Given the description of an element on the screen output the (x, y) to click on. 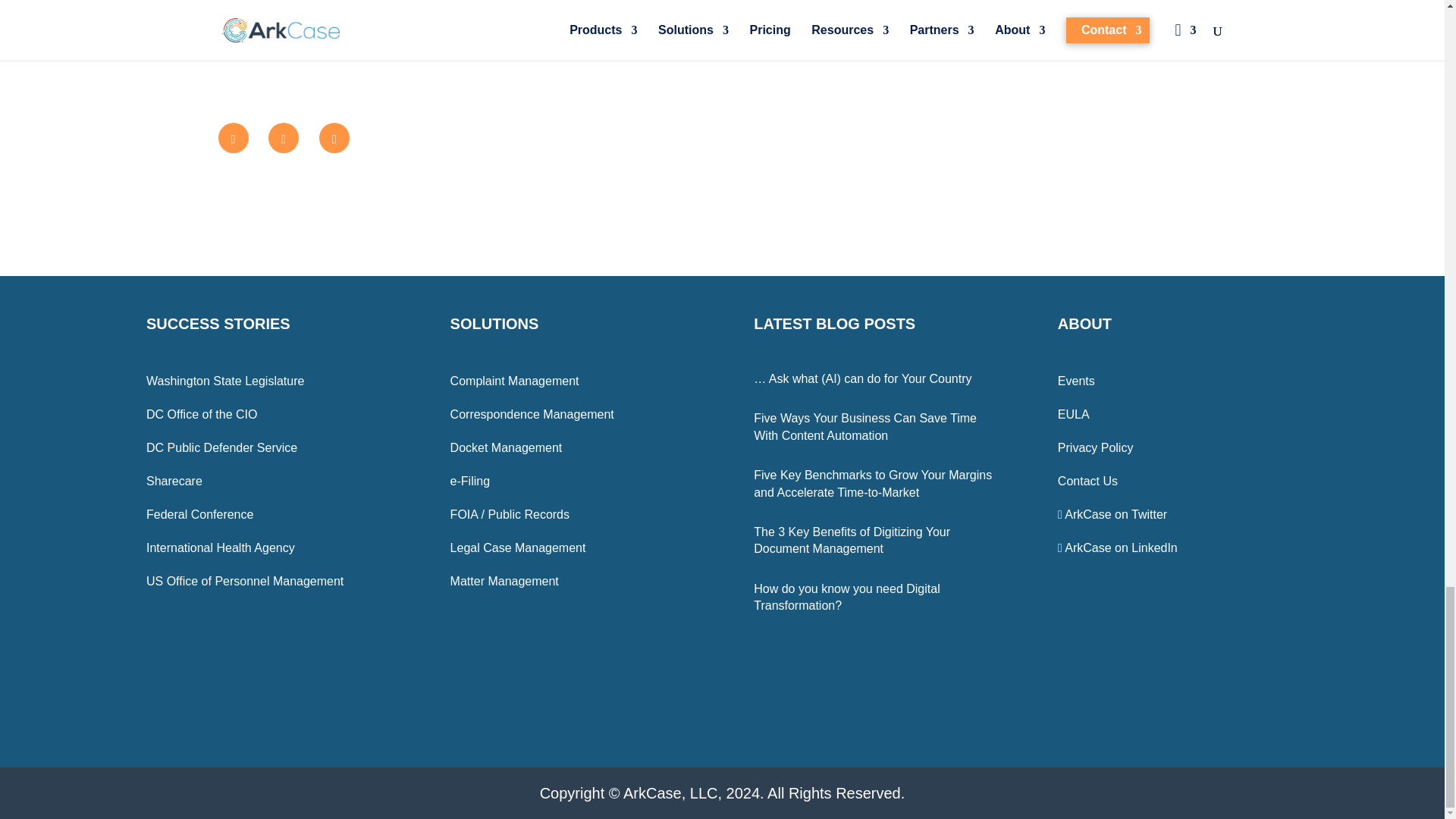
arkcase-white-logo (1085, 707)
